Given the description of an element on the screen output the (x, y) to click on. 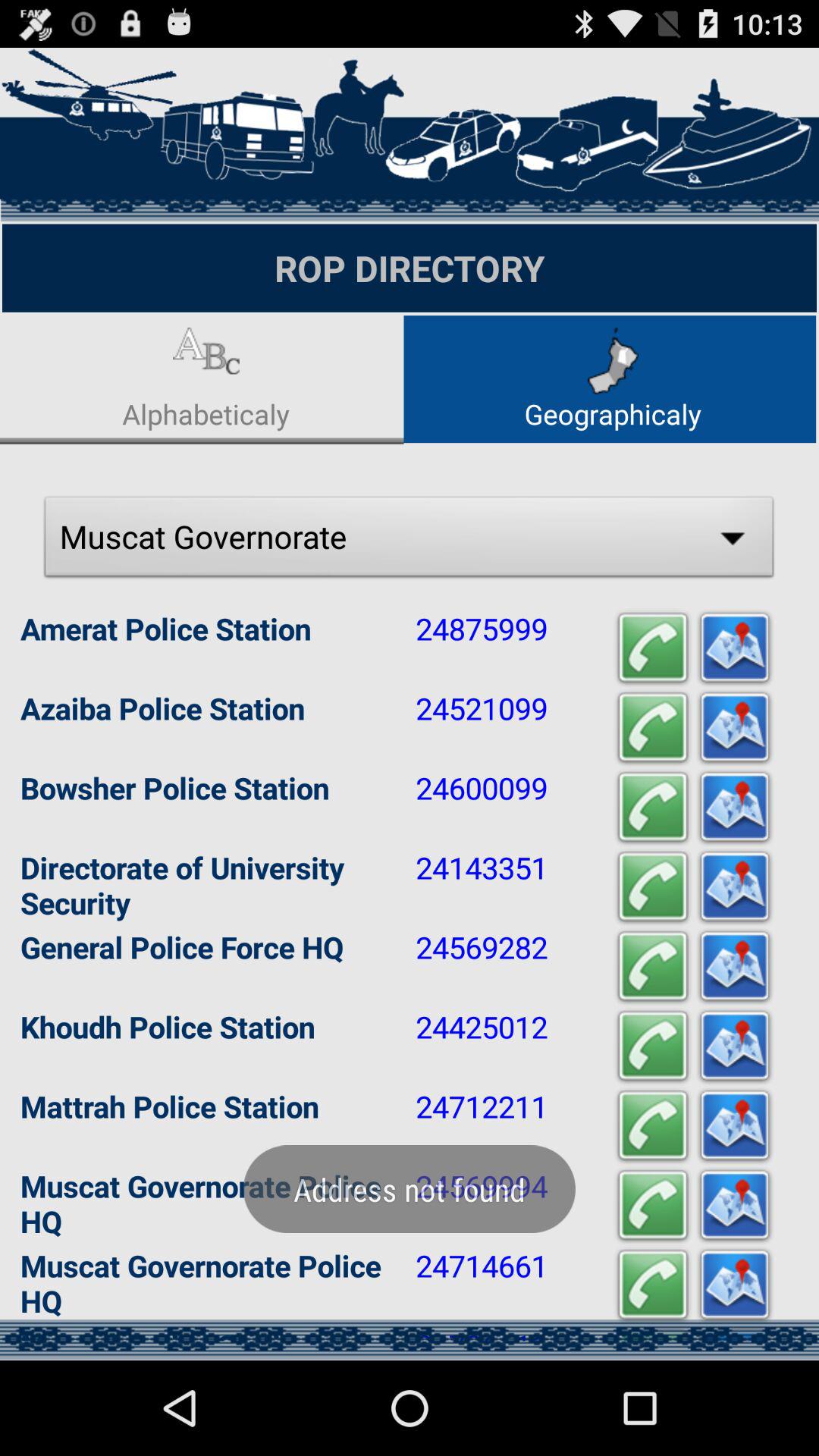
click on the first icon which is right to the number 24875999 (652, 648)
click on the fourth call symbol from top (652, 887)
click on the location of khoudh police station (734, 1046)
